Given the description of an element on the screen output the (x, y) to click on. 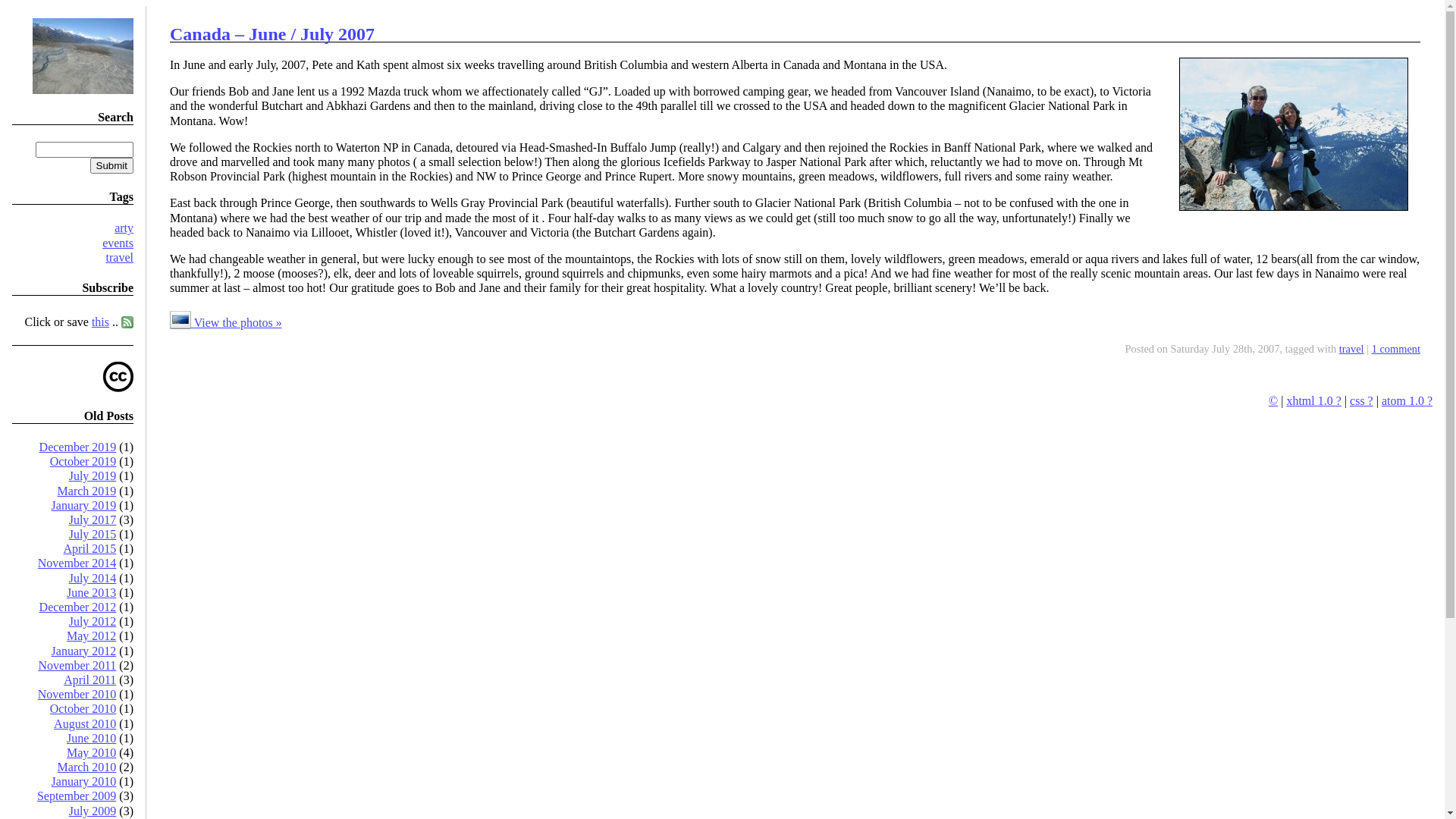
June 2013 Element type: text (91, 592)
July 2014 Element type: text (92, 577)
September 2009 Element type: text (76, 795)
April 2011 Element type: text (89, 679)
travel Element type: text (1351, 348)
December 2019 Element type: text (77, 446)
August 2010 Element type: text (84, 723)
July 2019 Element type: text (92, 475)
April 2015 Element type: text (89, 548)
1 comment Element type: text (1395, 348)
July 2012 Element type: text (92, 621)
November 2010 Element type: text (76, 693)
October 2019 Element type: text (83, 461)
Submit Element type: text (111, 165)
events Element type: text (117, 242)
this Element type: text (100, 321)
July 2017 Element type: text (92, 519)
November 2011 Element type: text (76, 664)
arty Element type: text (123, 227)
atom 1.0 ? Element type: text (1406, 400)
June 2010 Element type: text (91, 737)
travel Element type: text (119, 257)
January 2019 Element type: text (83, 504)
October 2010 Element type: text (83, 708)
January 2012 Element type: text (83, 650)
January 2010 Element type: text (83, 781)
March 2019 Element type: text (86, 490)
xhtml 1.0 ? Element type: text (1313, 400)
July 2015 Element type: text (92, 533)
November 2014 Element type: text (76, 562)
May 2012 Element type: text (91, 635)
March 2010 Element type: text (86, 766)
May 2010 Element type: text (91, 752)
July 2009 Element type: text (92, 810)
December 2012 Element type: text (77, 606)
css ? Element type: text (1361, 400)
